Given the description of an element on the screen output the (x, y) to click on. 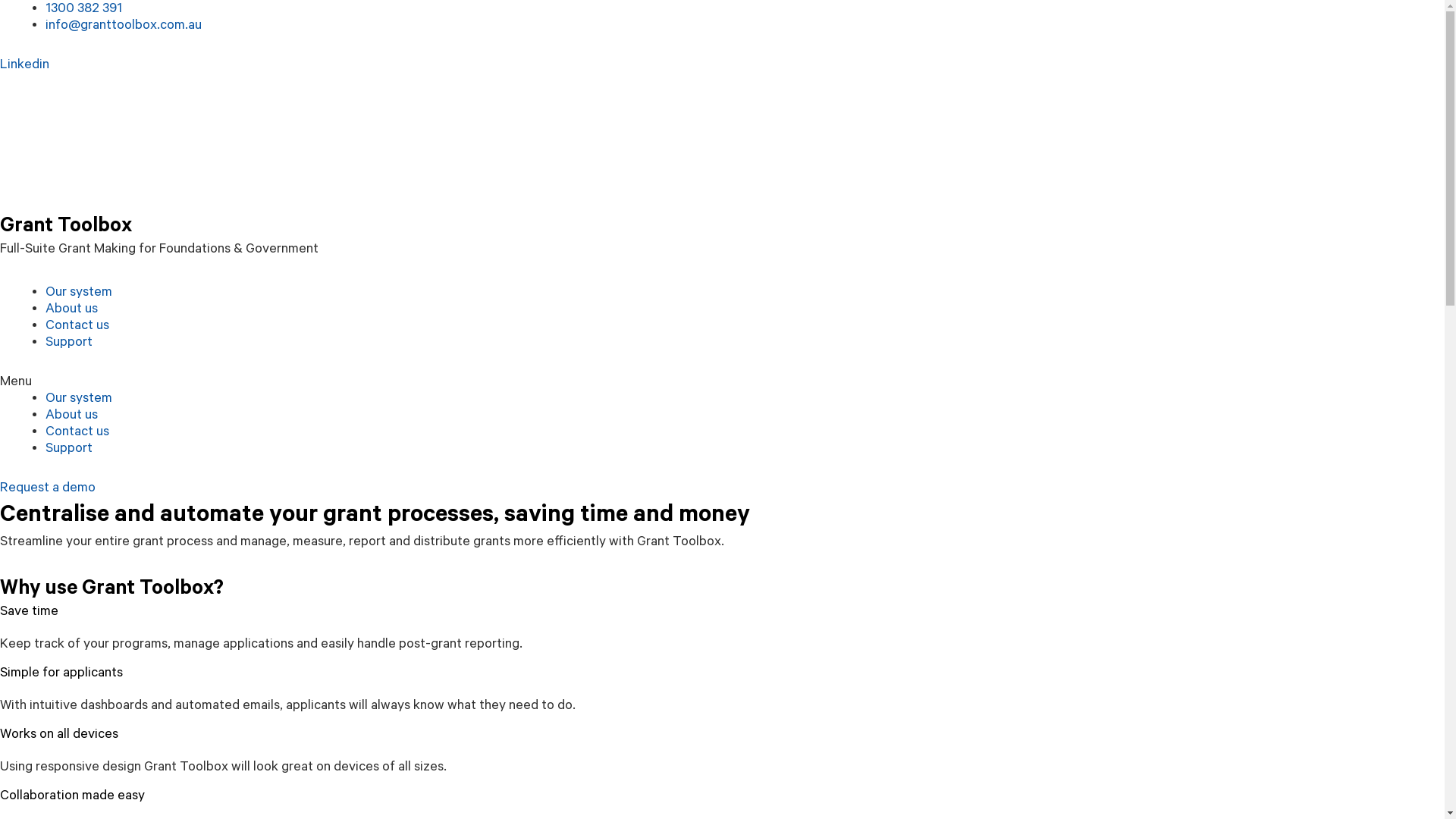
Our system Element type: text (78, 290)
Contact us Element type: text (77, 324)
Support Element type: text (68, 340)
About us Element type: text (71, 307)
Request a demo Element type: text (47, 486)
1300 382 391 Element type: text (83, 7)
info@granttoolbox.com.au Element type: text (123, 24)
About us Element type: text (71, 413)
Support Element type: text (68, 447)
Contact us Element type: text (77, 430)
Linkedin Element type: text (24, 64)
Our system Element type: text (78, 396)
